Given the description of an element on the screen output the (x, y) to click on. 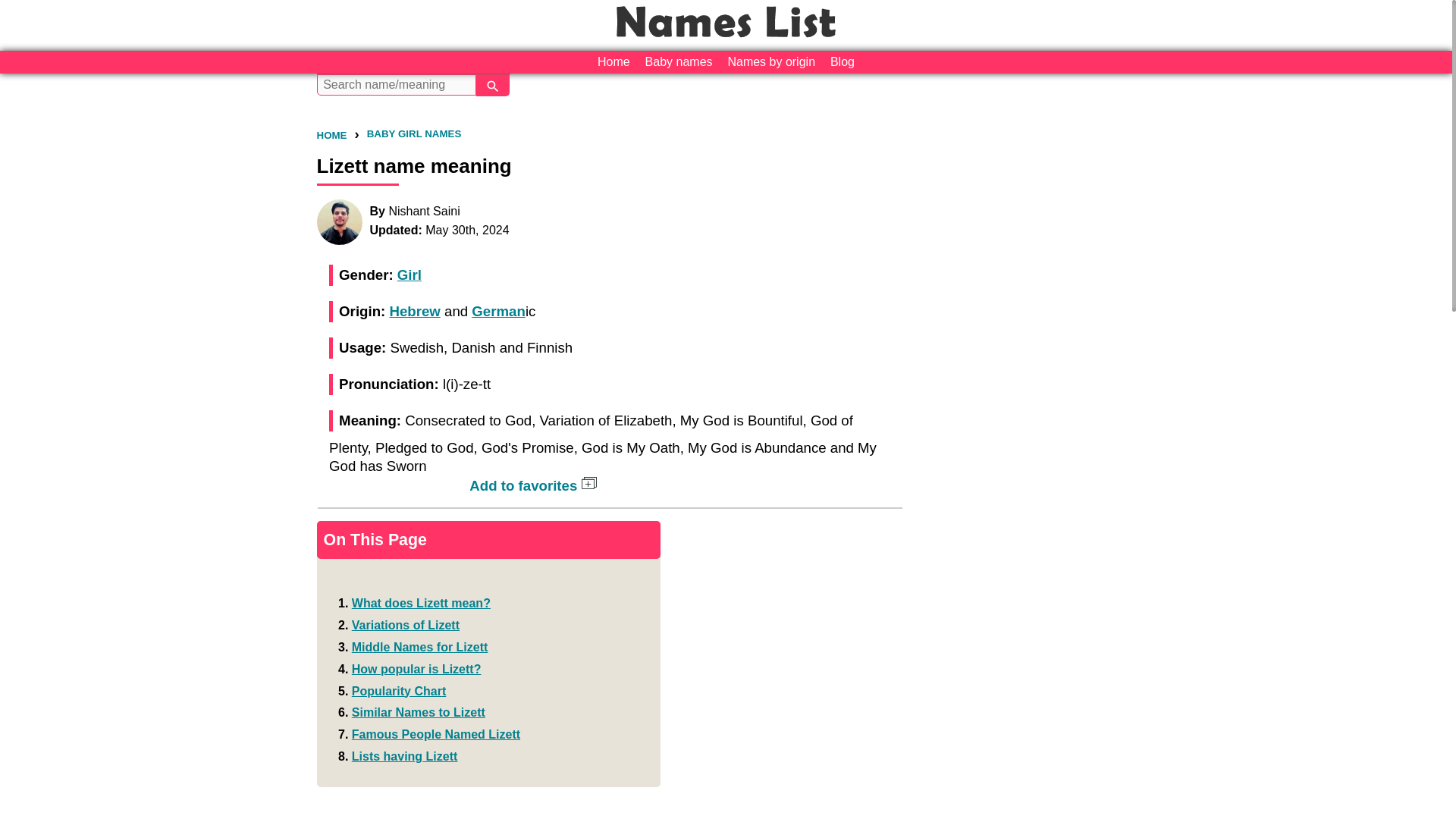
German (498, 311)
HOME (332, 134)
Lists having Lizett (405, 756)
How popular is Lizett? (416, 668)
Variations of Lizett (406, 625)
What does Lizett mean? (421, 603)
Girl (409, 274)
Famous People Named Lizett (435, 734)
Middle Names for Lizett (419, 646)
Home (613, 61)
